Given the description of an element on the screen output the (x, y) to click on. 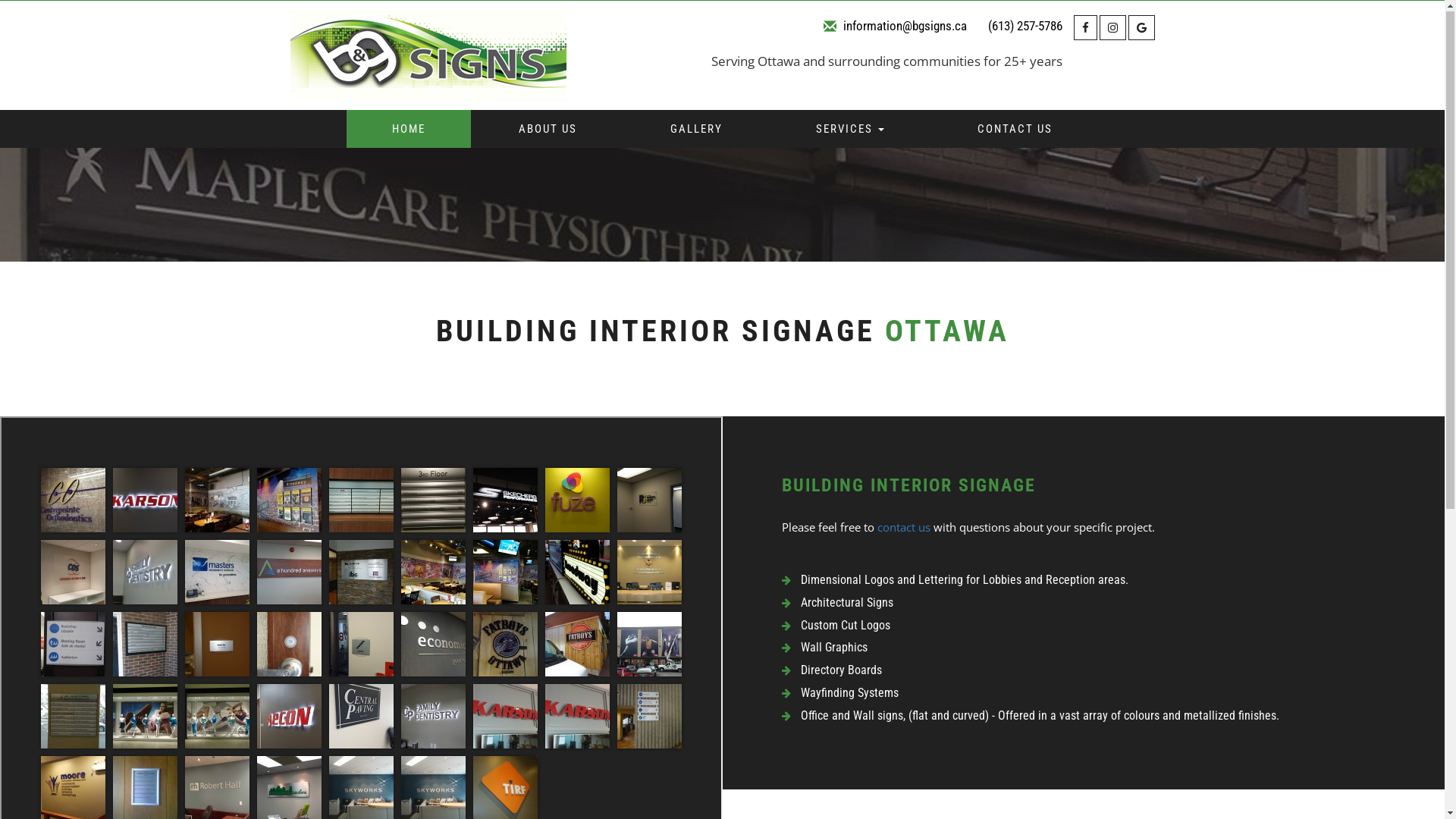
contact us Element type: text (902, 528)
information@bgsigns.ca Element type: text (904, 26)
HOME Element type: text (408, 129)
SERVICES Element type: text (849, 129)
ABOUT US Element type: text (547, 129)
Wall Graphics Element type: text (833, 647)
Directory Boards Element type: text (840, 670)
Wayfinding Systems Element type: text (849, 693)
GALLERY Element type: text (696, 129)
(613) 257-5786 Element type: text (1024, 26)
CONTACT US Element type: text (1014, 129)
Custom Cut Logos Element type: text (845, 625)
Architectural Signs Element type: text (846, 603)
